Given the description of an element on the screen output the (x, y) to click on. 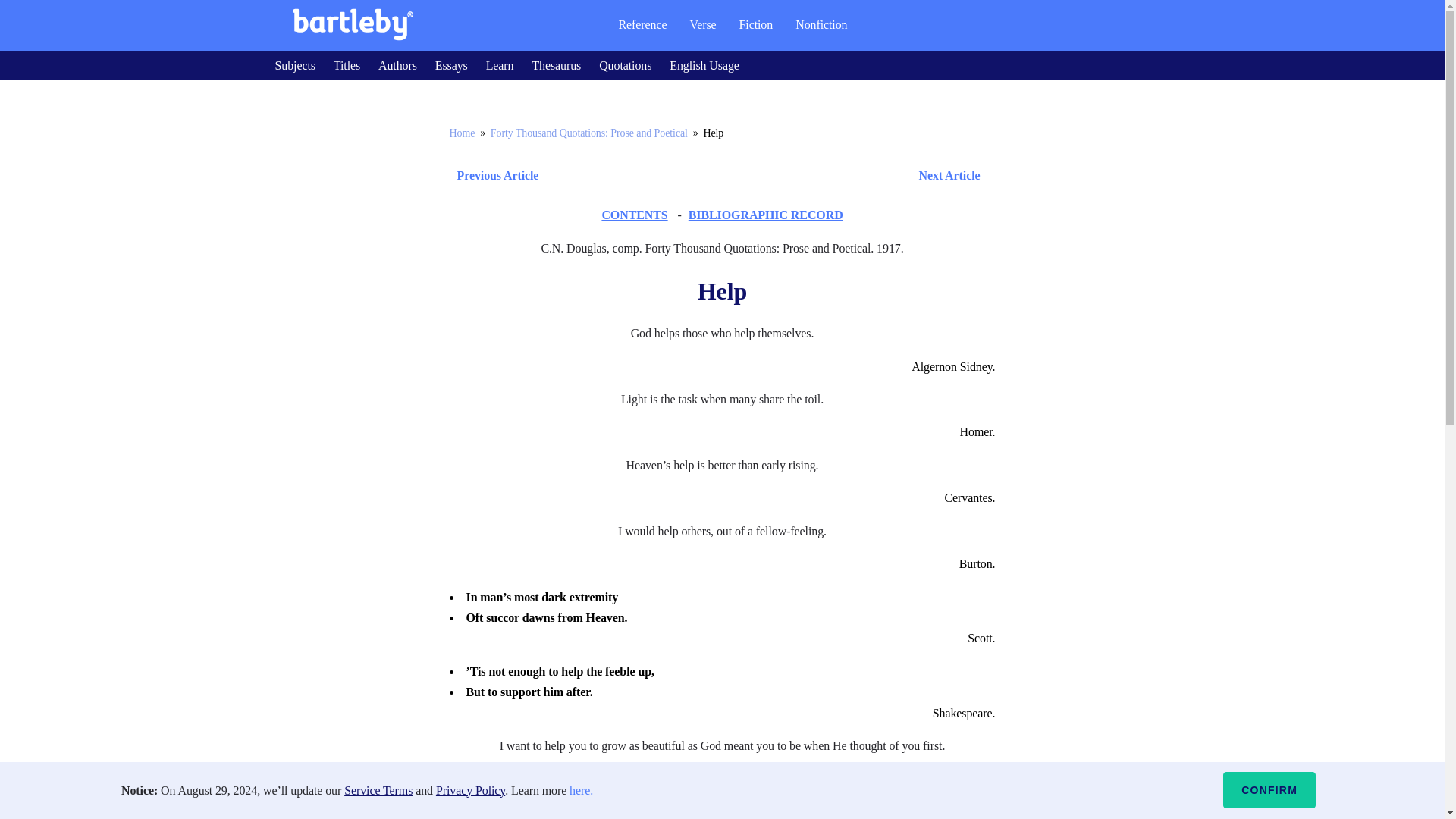
Authors (397, 65)
Thesaurus (555, 65)
Essays (451, 65)
English Usage (704, 65)
CONTENTS (633, 214)
Fiction (756, 24)
Subjects (294, 65)
BIBLIOGRAPHIC RECORD (765, 214)
Next Article (766, 175)
Titles (346, 65)
Quotations (624, 65)
Learn (499, 65)
Previous Article (493, 175)
Verse (702, 24)
Home (461, 132)
